Given the description of an element on the screen output the (x, y) to click on. 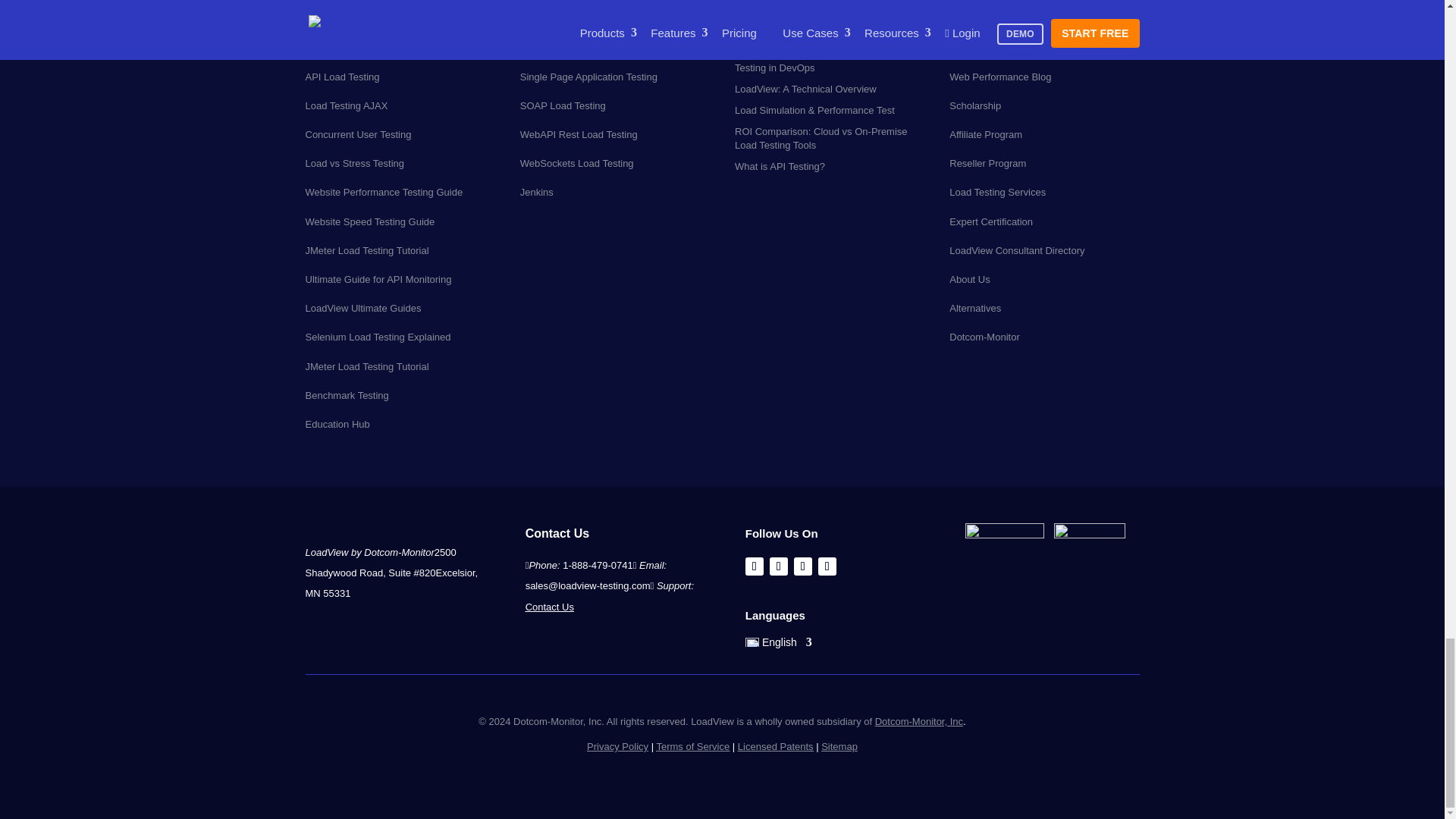
Follow on Facebook (753, 566)
Follow on X (778, 566)
Follow on Youtube (826, 566)
English (778, 645)
Follow on LinkedIn (802, 566)
